Given the description of an element on the screen output the (x, y) to click on. 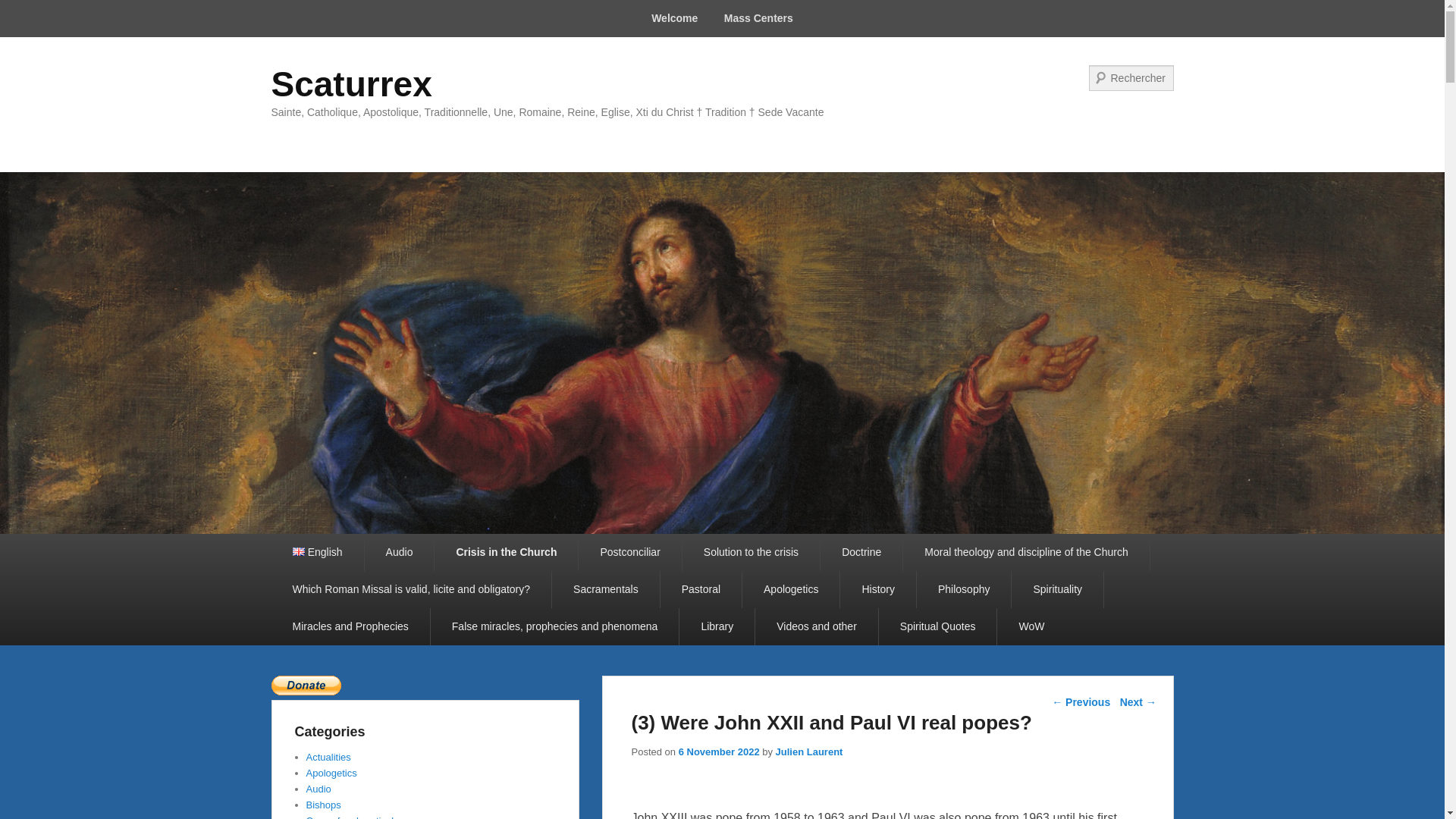
English (317, 551)
0 h 51 min (719, 751)
Search (21, 11)
View all posts by Julien Laurent (809, 751)
Audio (399, 551)
Scaturrex (351, 84)
Welcome (674, 18)
Crisis in the Church (505, 551)
Scaturrex (351, 84)
Mass Centers (759, 18)
